Given the description of an element on the screen output the (x, y) to click on. 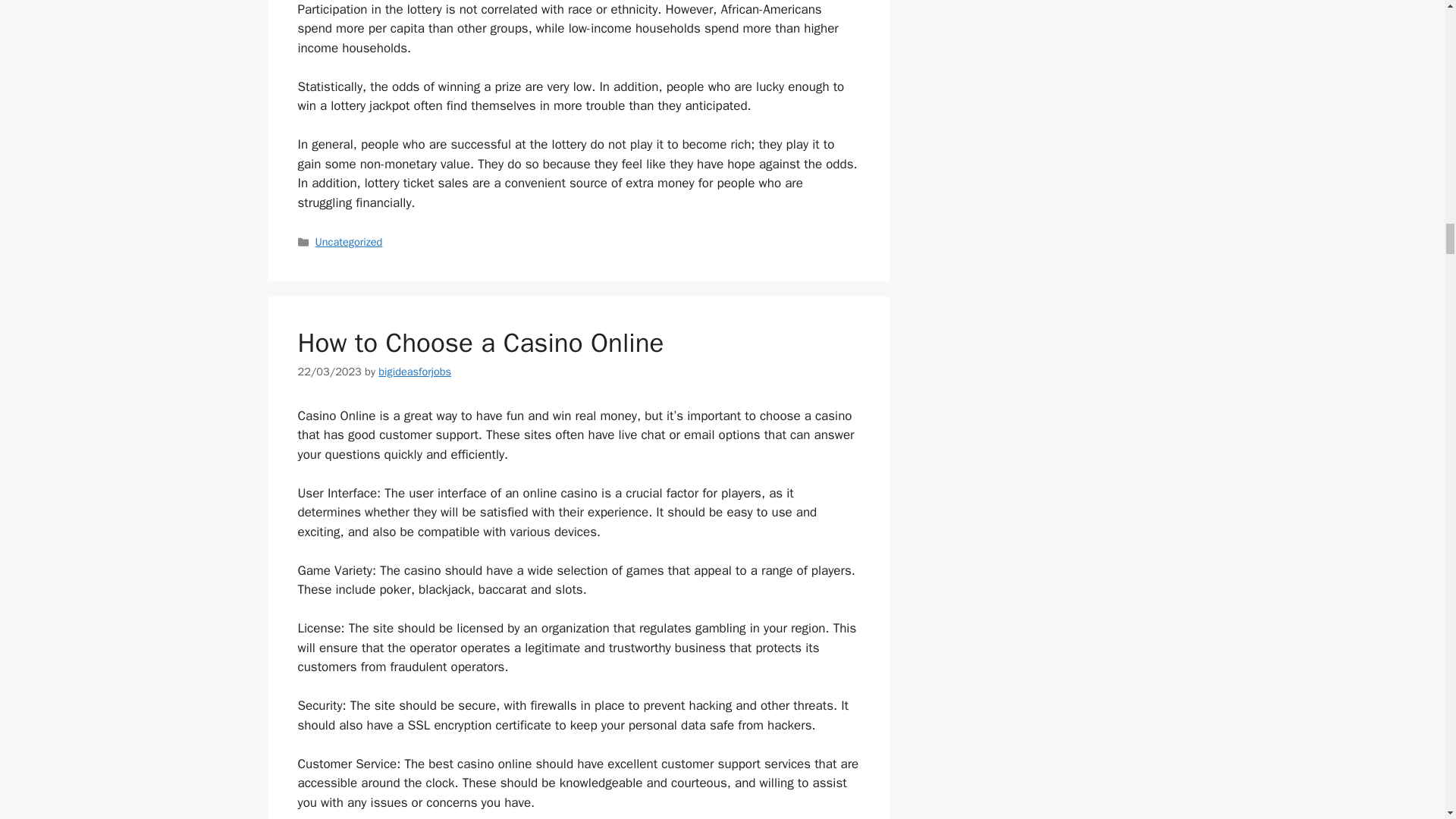
View all posts by bigideasforjobs (414, 371)
Uncategorized (348, 241)
bigideasforjobs (414, 371)
How to Choose a Casino Online (480, 342)
